Given the description of an element on the screen output the (x, y) to click on. 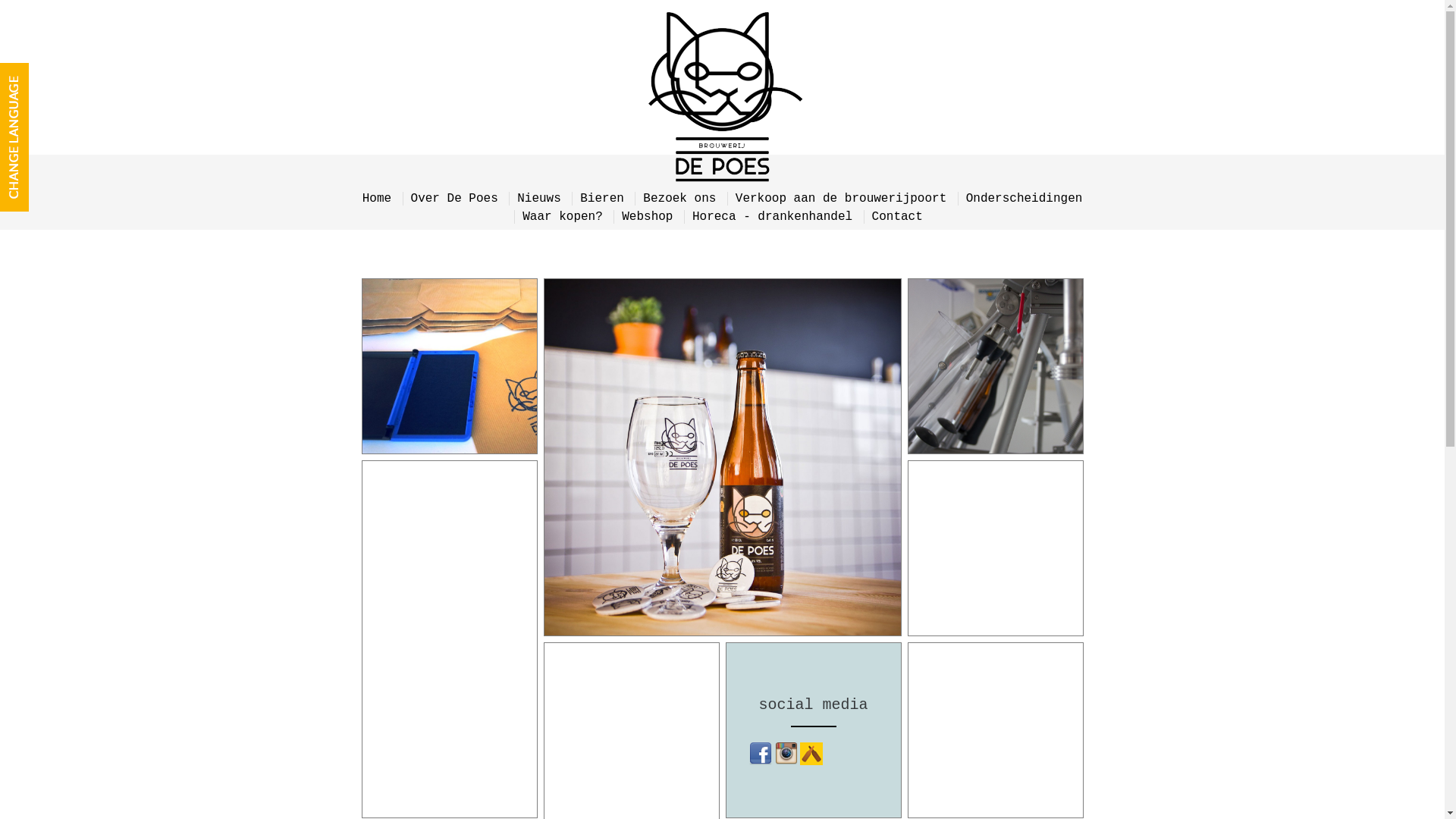
Verkoop aan de brouwerijpoort Element type: text (840, 198)
Horeca - drankenhandel Element type: text (771, 216)
Nieuws Element type: text (538, 198)
Home Element type: text (376, 198)
Over De Poes Element type: text (454, 198)
Webshop Element type: text (647, 216)
Contact Element type: text (897, 216)
Waar kopen? Element type: text (562, 216)
Onderscheidingen Element type: text (1024, 198)
Bezoek ons Element type: text (679, 198)
Bieren Element type: text (601, 198)
